Given the description of an element on the screen output the (x, y) to click on. 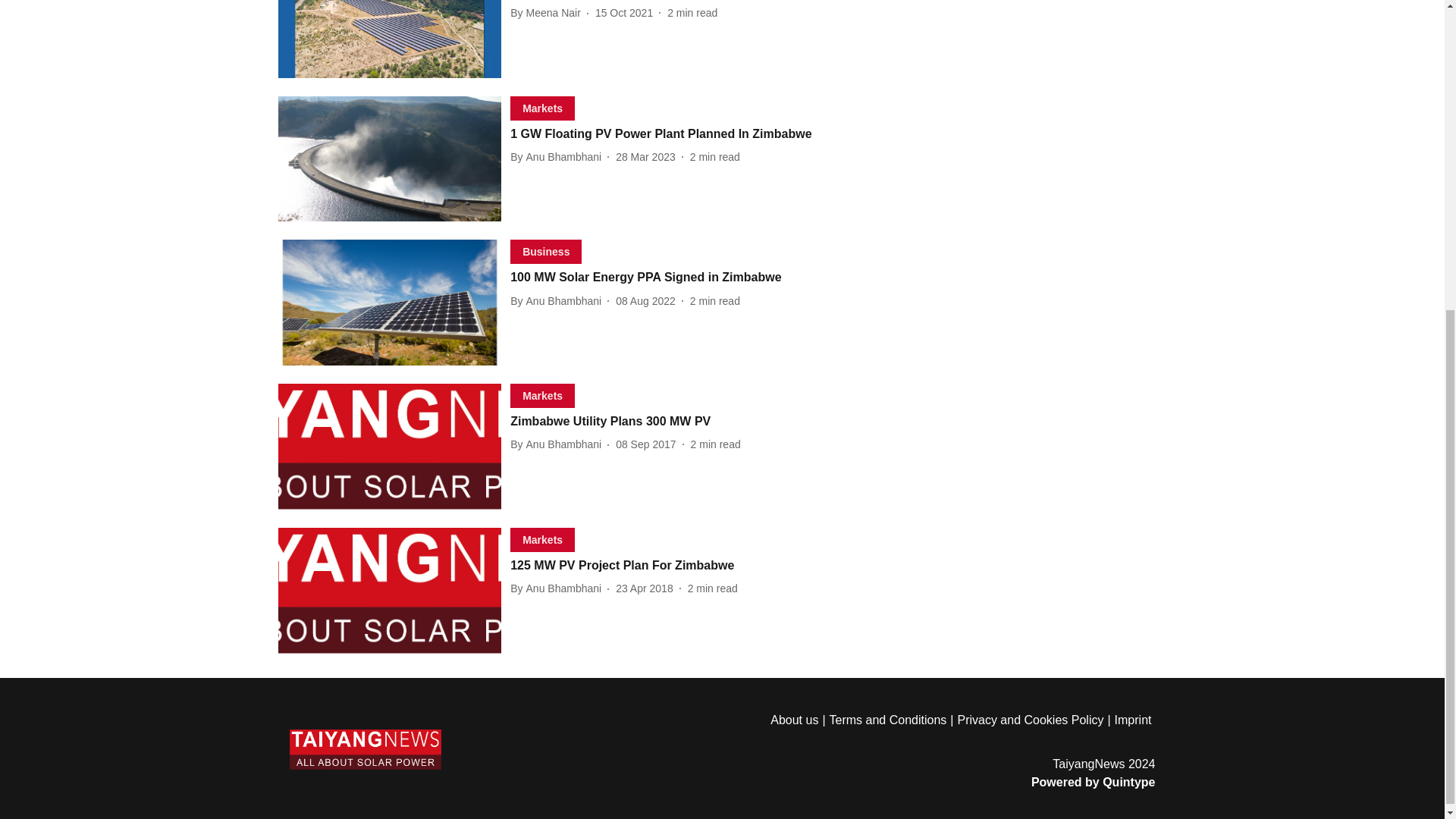
100 MW Solar Energy PPA Signed in Zimbabwe (685, 277)
2018-04-22 19:46 (643, 588)
Zimbabwe Utility Plans 300 MW PV (685, 421)
2023-03-28 14:17 (645, 156)
1 GW Floating PV Power Plant Planned In Zimbabwe (685, 134)
2017-09-07 21:44 (559, 301)
Markets (645, 444)
2022-08-08 12:23 (559, 157)
2021-10-15 15:16 (543, 395)
Business (645, 300)
Markets (623, 12)
